Given the description of an element on the screen output the (x, y) to click on. 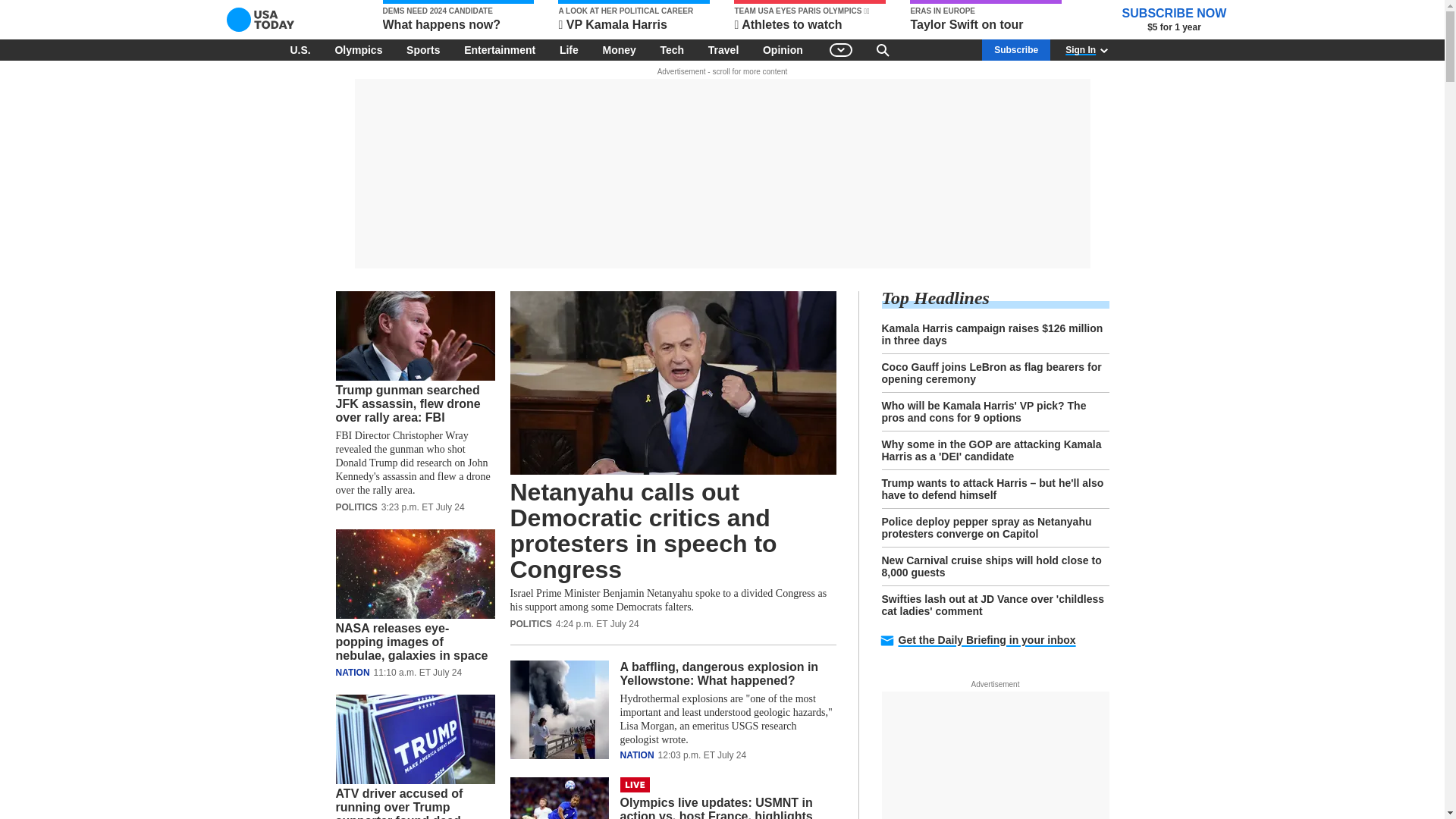
Search (882, 49)
U.S. (299, 49)
Travel (722, 49)
Tech (671, 49)
What happens now? (457, 17)
Sports (422, 49)
Life (568, 49)
Opinion (782, 49)
Entertainment (500, 49)
Money (618, 49)
Olympics (358, 49)
Taylor Swift on tour (985, 17)
